Given the description of an element on the screen output the (x, y) to click on. 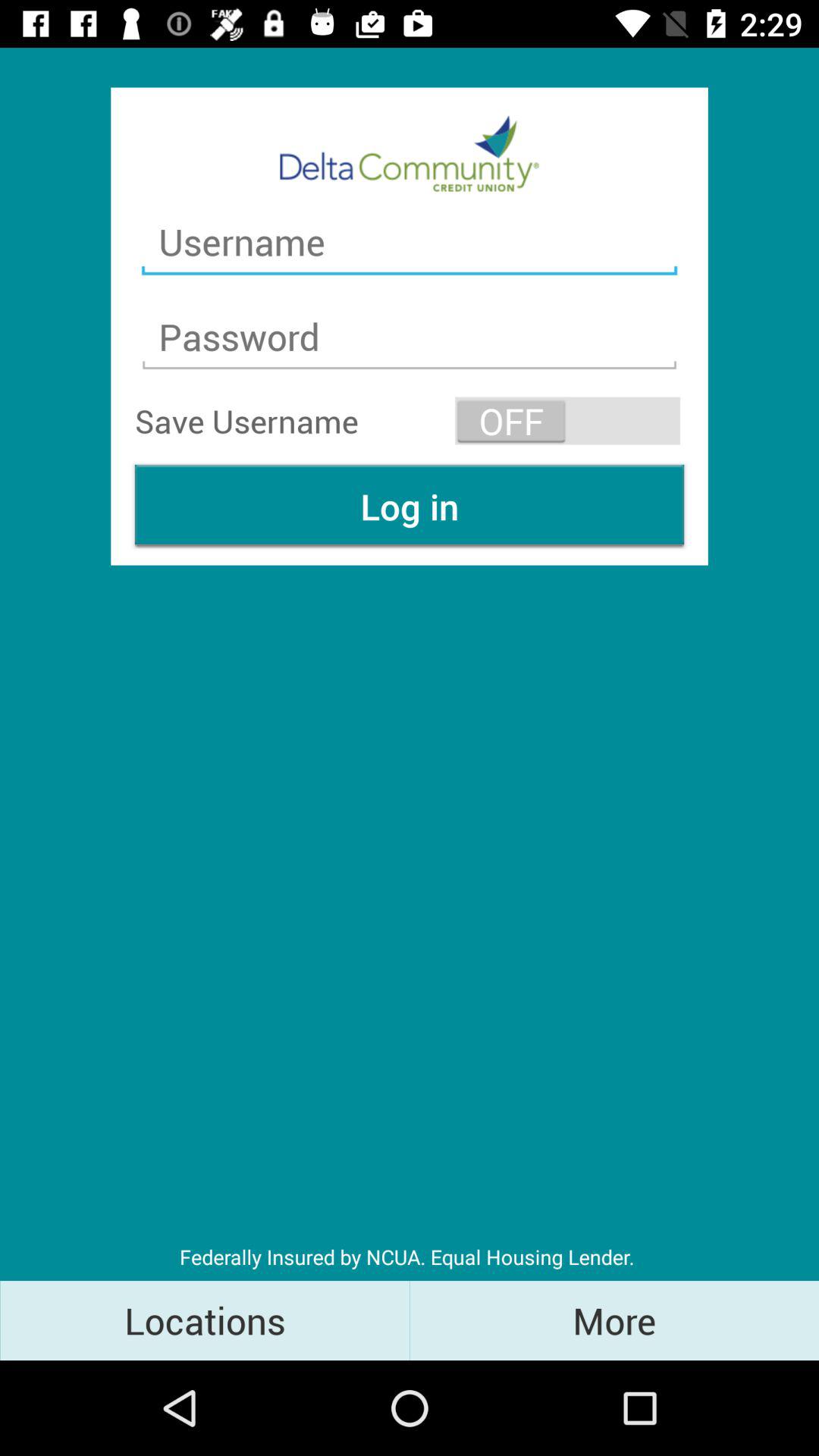
swipe until the log in icon (409, 506)
